Given the description of an element on the screen output the (x, y) to click on. 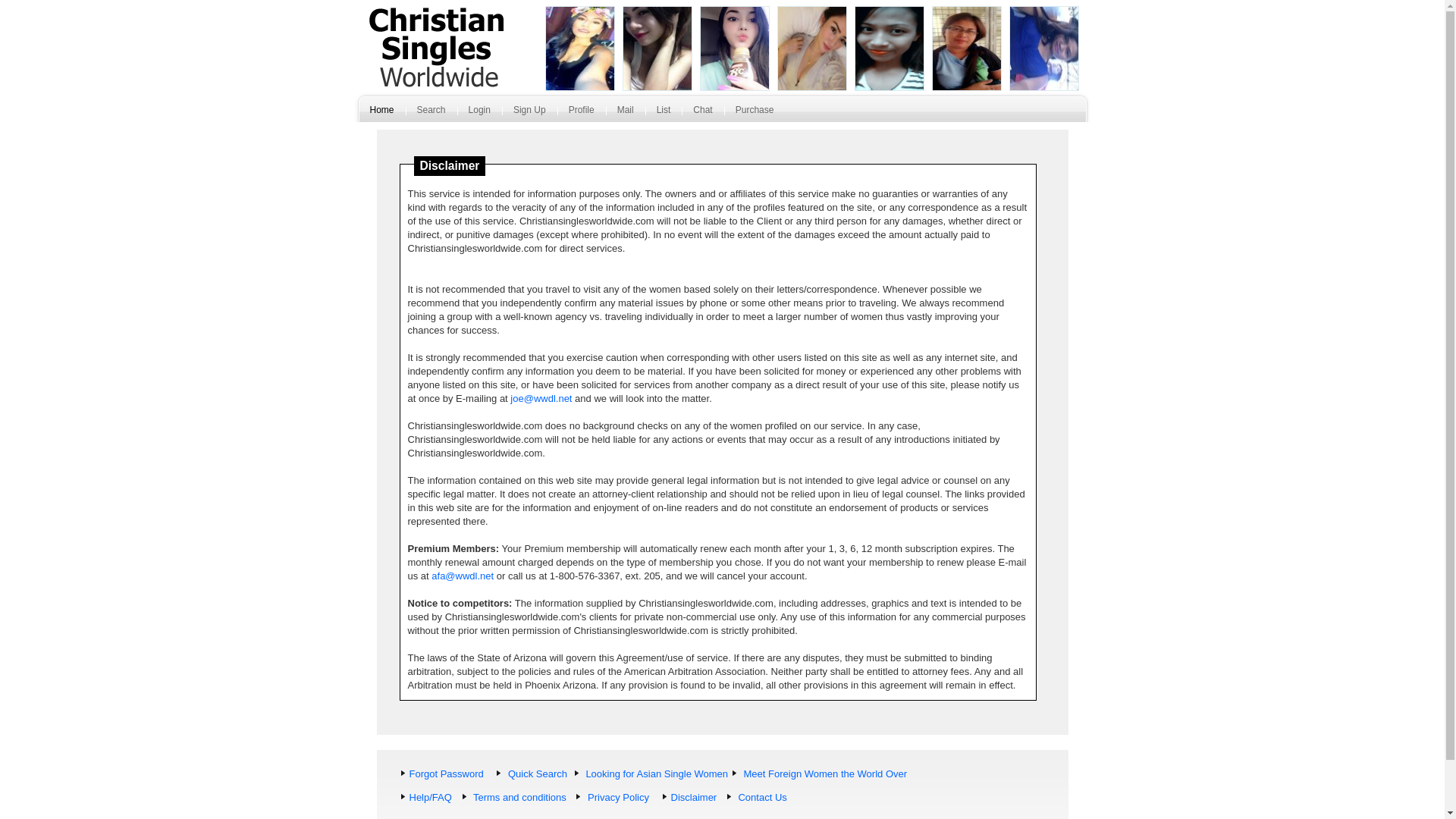
Purchase (754, 112)
Profile (581, 112)
Search (430, 112)
Sign Up (529, 112)
Profile (581, 112)
Sign Up (529, 112)
